Given the description of an element on the screen output the (x, y) to click on. 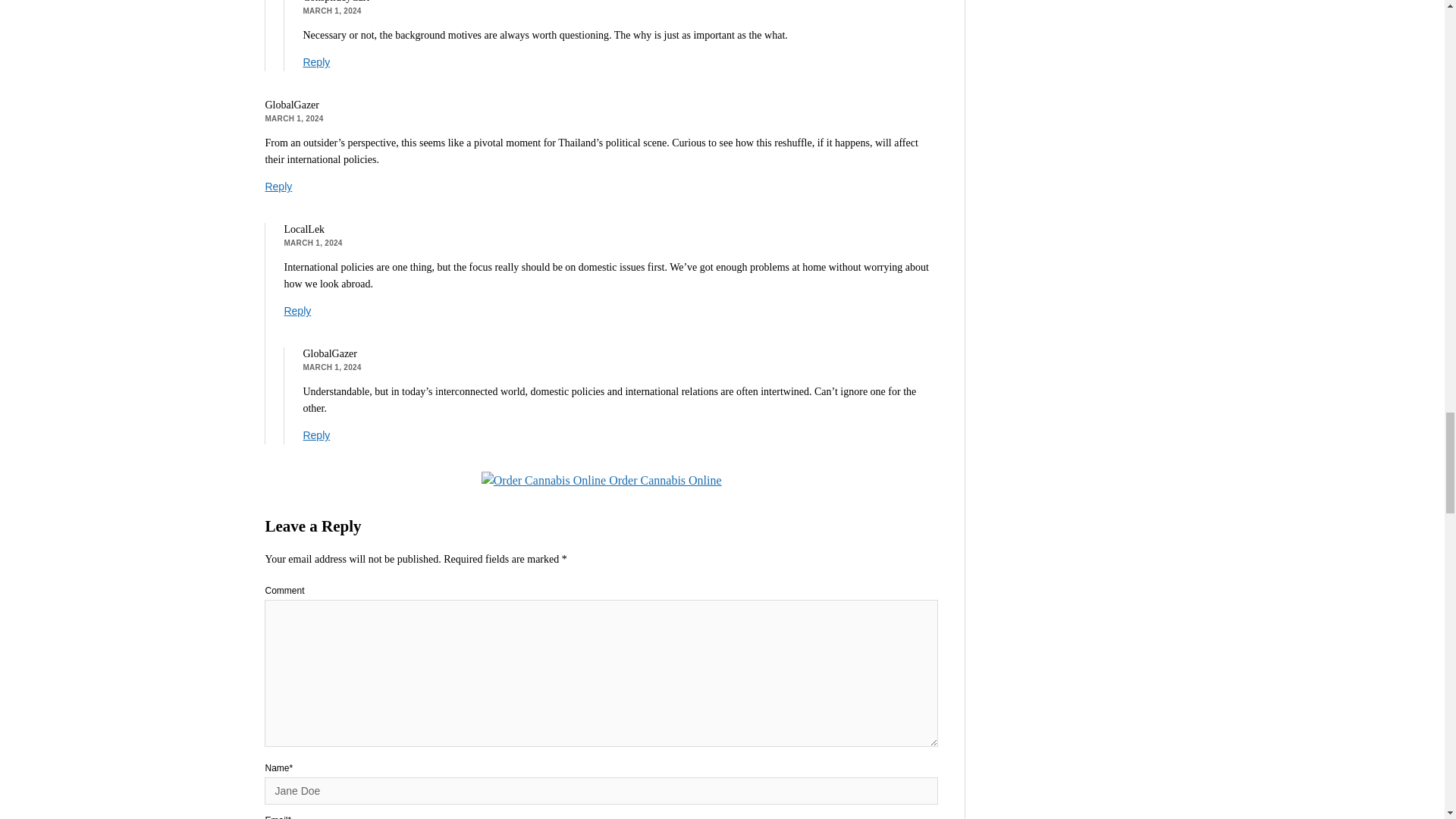
Reply (278, 186)
Reply (316, 61)
Order Cannabis Online (601, 480)
Reply (316, 435)
Reply (297, 310)
